Given the description of an element on the screen output the (x, y) to click on. 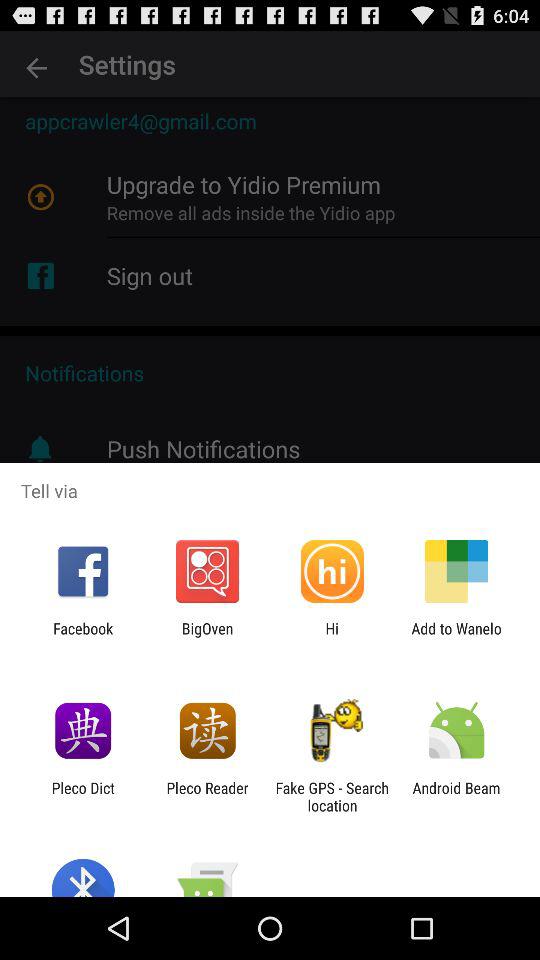
turn off the app next to the pleco reader icon (332, 796)
